Given the description of an element on the screen output the (x, y) to click on. 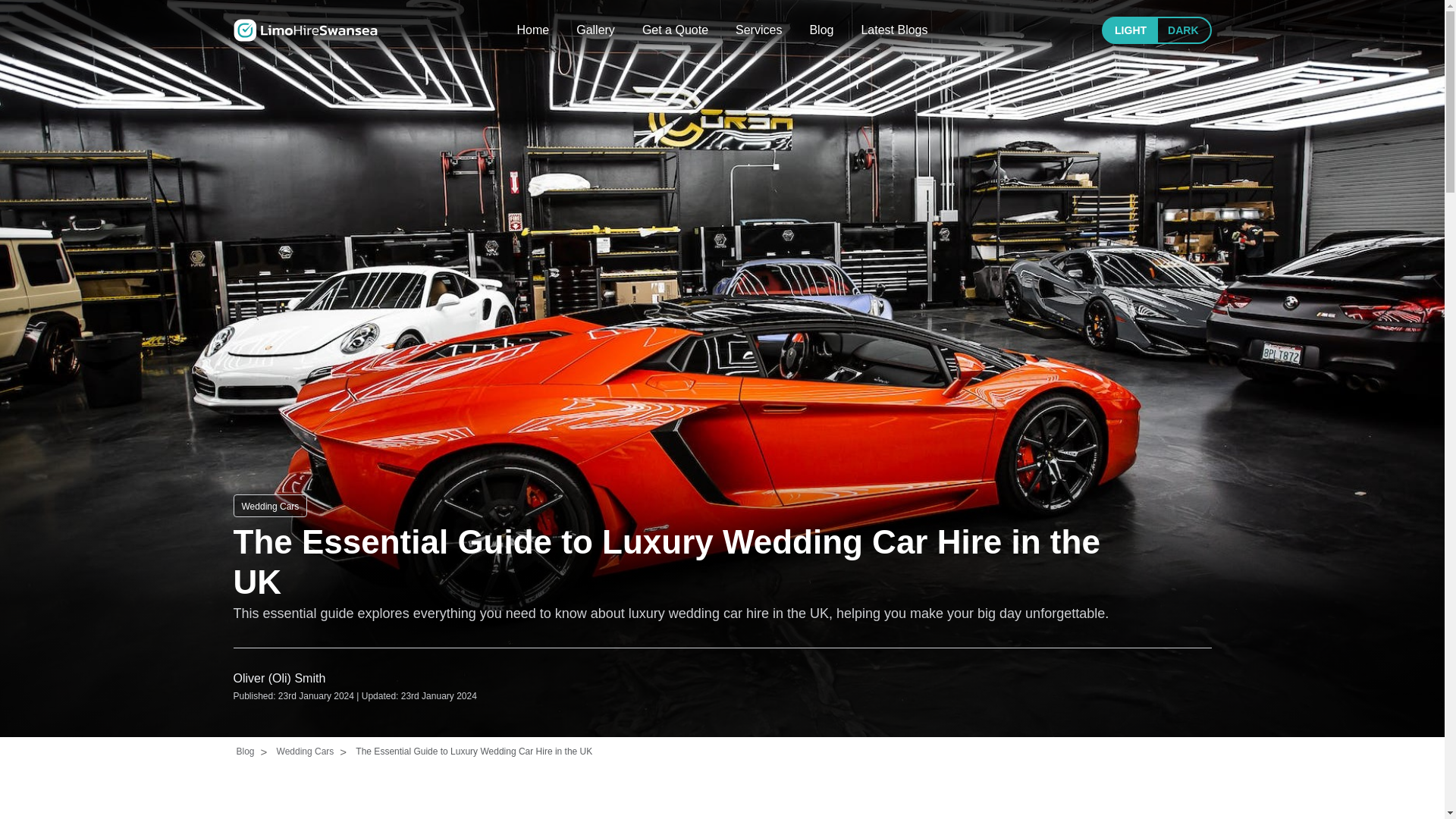
Limo Hire Swansea (304, 30)
Get a Quote (674, 30)
Latest Blogs (893, 30)
Latest Blogs (893, 30)
Get a Quote (674, 30)
